Given the description of an element on the screen output the (x, y) to click on. 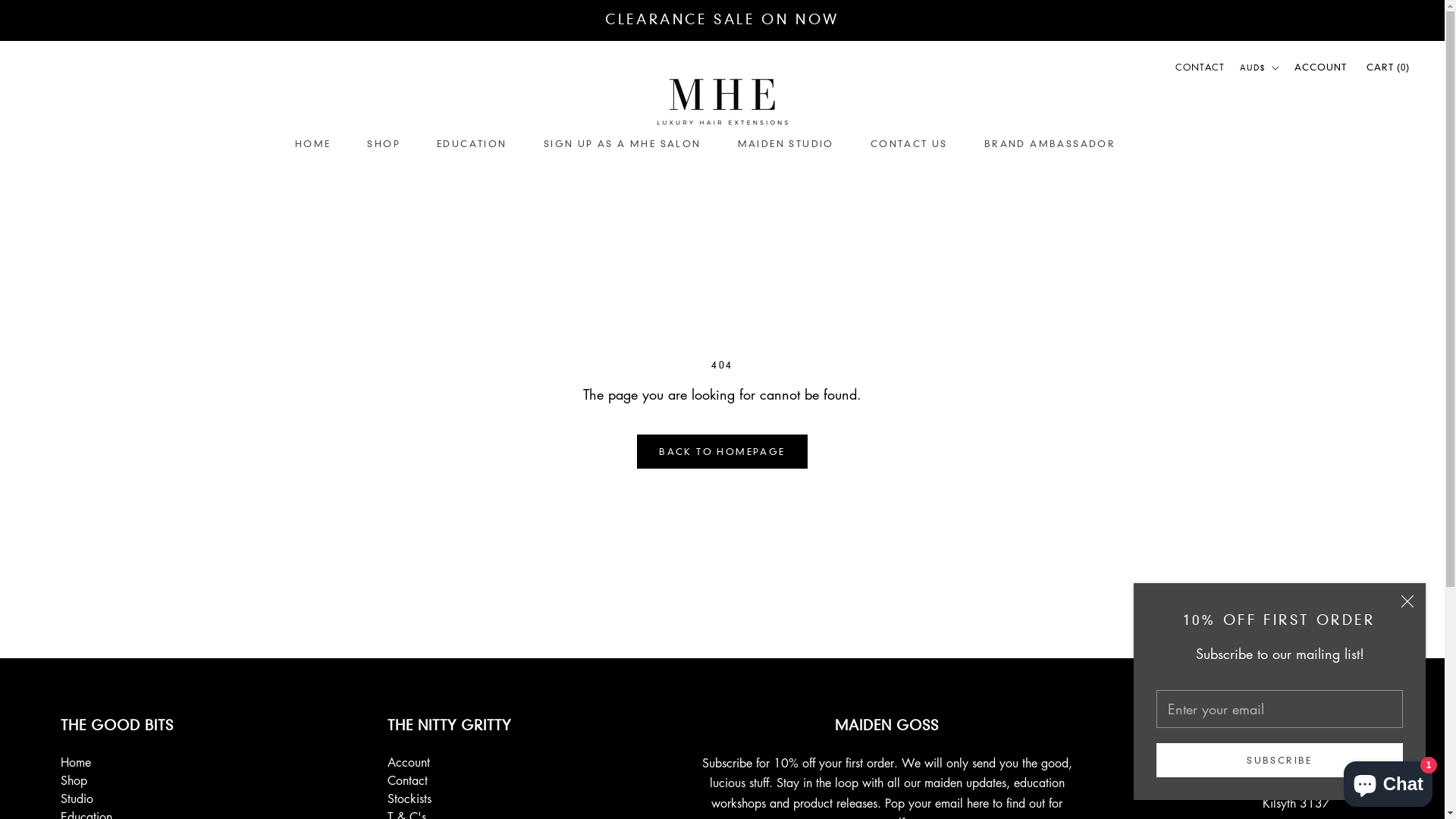
AUD Element type: text (1287, 201)
BOB Element type: text (1287, 381)
Stockists Element type: text (449, 798)
Studio Element type: text (116, 798)
BDT Element type: text (1287, 301)
EUR Element type: text (1287, 723)
Account Element type: text (449, 762)
AFN Element type: text (1287, 120)
AWG Element type: text (1287, 220)
DZD Element type: text (1287, 662)
CNY Element type: text (1287, 522)
AUD$ Element type: text (1259, 68)
AED Element type: text (1287, 100)
EDUCATION
EDUCATION Element type: text (471, 143)
BAM Element type: text (1287, 261)
CONTACT US
CONTACT US Element type: text (908, 143)
ALL Element type: text (1287, 140)
CAD Element type: text (1287, 461)
ACCOUNT Element type: text (1320, 67)
Home Element type: text (116, 762)
CONTACT Element type: text (1199, 66)
EGP Element type: text (1287, 683)
ANG Element type: text (1287, 180)
SIGN UP AS A MHE SALON
SIGN UP AS A MHE SALON Element type: text (622, 143)
SHOP Element type: text (383, 143)
BND Element type: text (1287, 361)
CVE Element type: text (1287, 562)
MAIDEN STUDIO Element type: text (785, 143)
AZN Element type: text (1287, 241)
BGN Element type: text (1287, 321)
CLEARANCE SALE ON NOW Element type: text (722, 19)
BIF Element type: text (1287, 341)
DKK Element type: text (1287, 622)
Shop Element type: text (116, 780)
GMD Element type: text (1287, 803)
BBD Element type: text (1287, 281)
BZD Element type: text (1287, 442)
BACK TO HOMEPAGE Element type: text (721, 451)
FKP Element type: text (1287, 763)
CART (0) Element type: text (1387, 66)
CRC Element type: text (1287, 542)
CDF Element type: text (1287, 482)
GBP Element type: text (1287, 783)
CZK Element type: text (1287, 582)
BWP Element type: text (1287, 421)
Shopify online store chat Element type: hover (1388, 780)
DOP Element type: text (1287, 643)
CHF Element type: text (1287, 502)
Contact Element type: text (449, 780)
BSD Element type: text (1287, 402)
SUBSCRIBE Element type: text (1279, 760)
ETB Element type: text (1287, 703)
HOME
HOME Element type: text (312, 143)
DJF Element type: text (1287, 603)
BRAND AMBASSADOR
BRAND AMBASSADOR Element type: text (1049, 143)
AMD Element type: text (1287, 160)
FJD Element type: text (1287, 743)
